Given the description of an element on the screen output the (x, y) to click on. 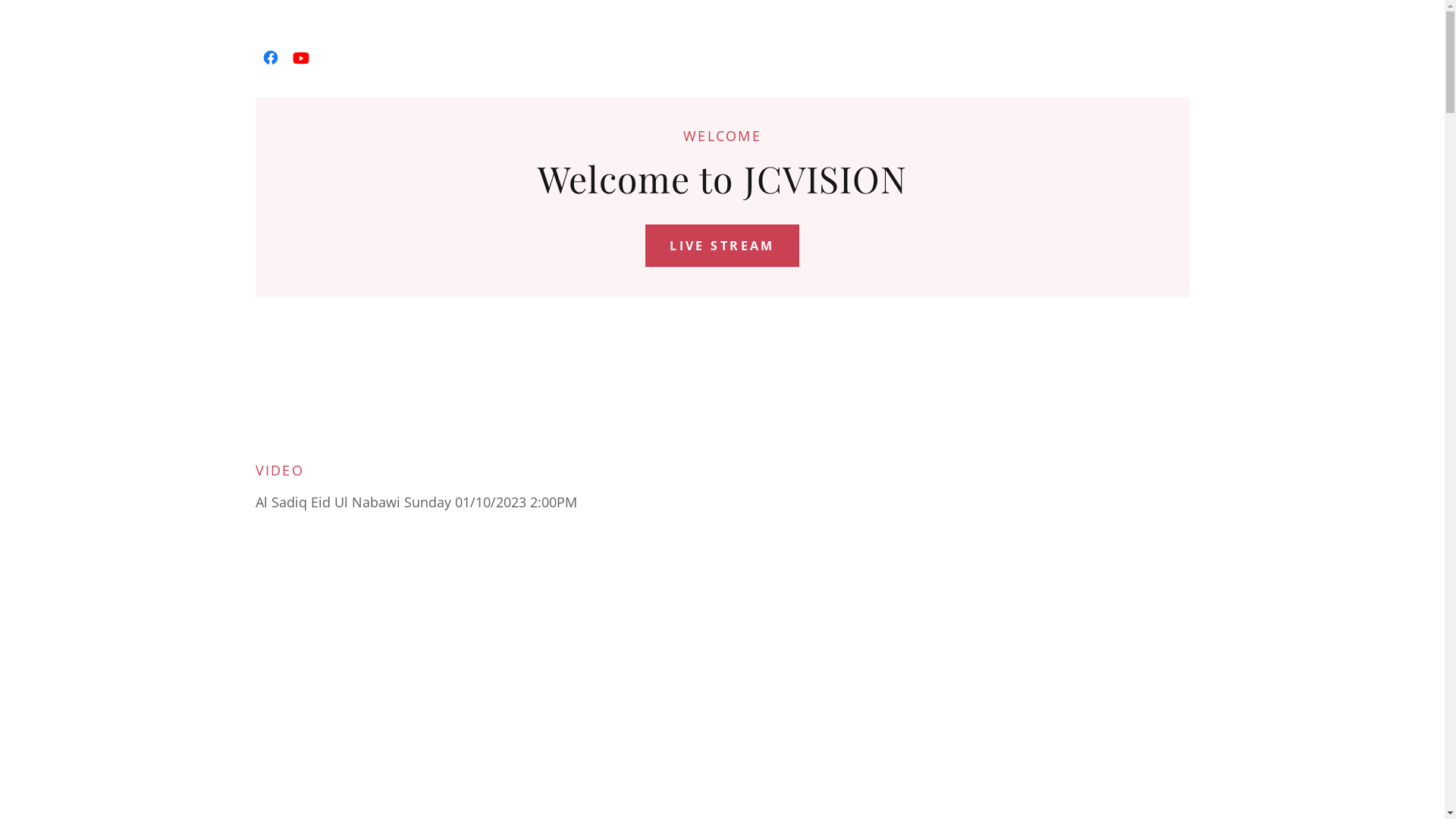
LIVE STREAM Element type: text (722, 245)
